Given the description of an element on the screen output the (x, y) to click on. 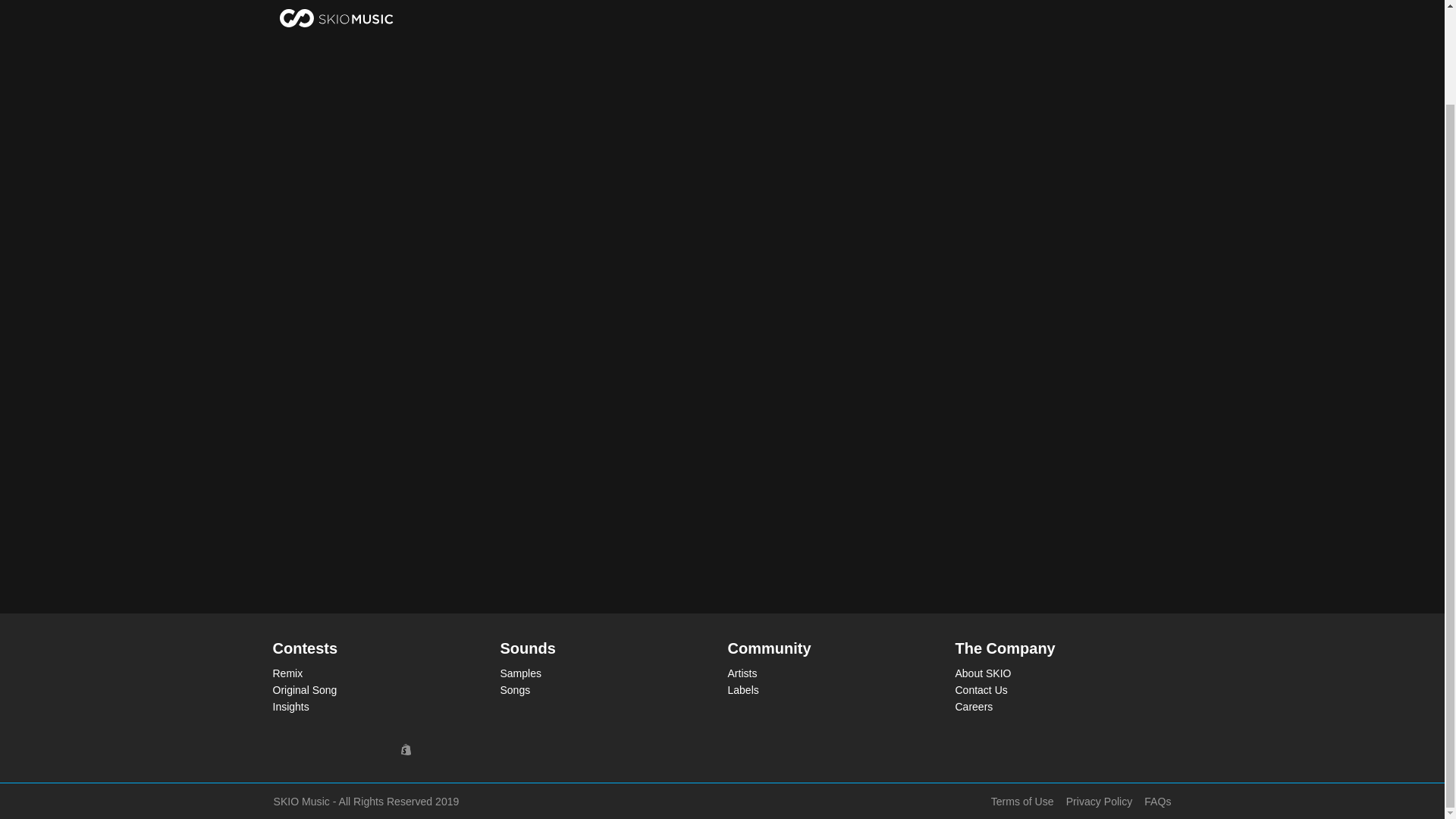
Original Song (375, 689)
Remix (375, 673)
